Given the description of an element on the screen output the (x, y) to click on. 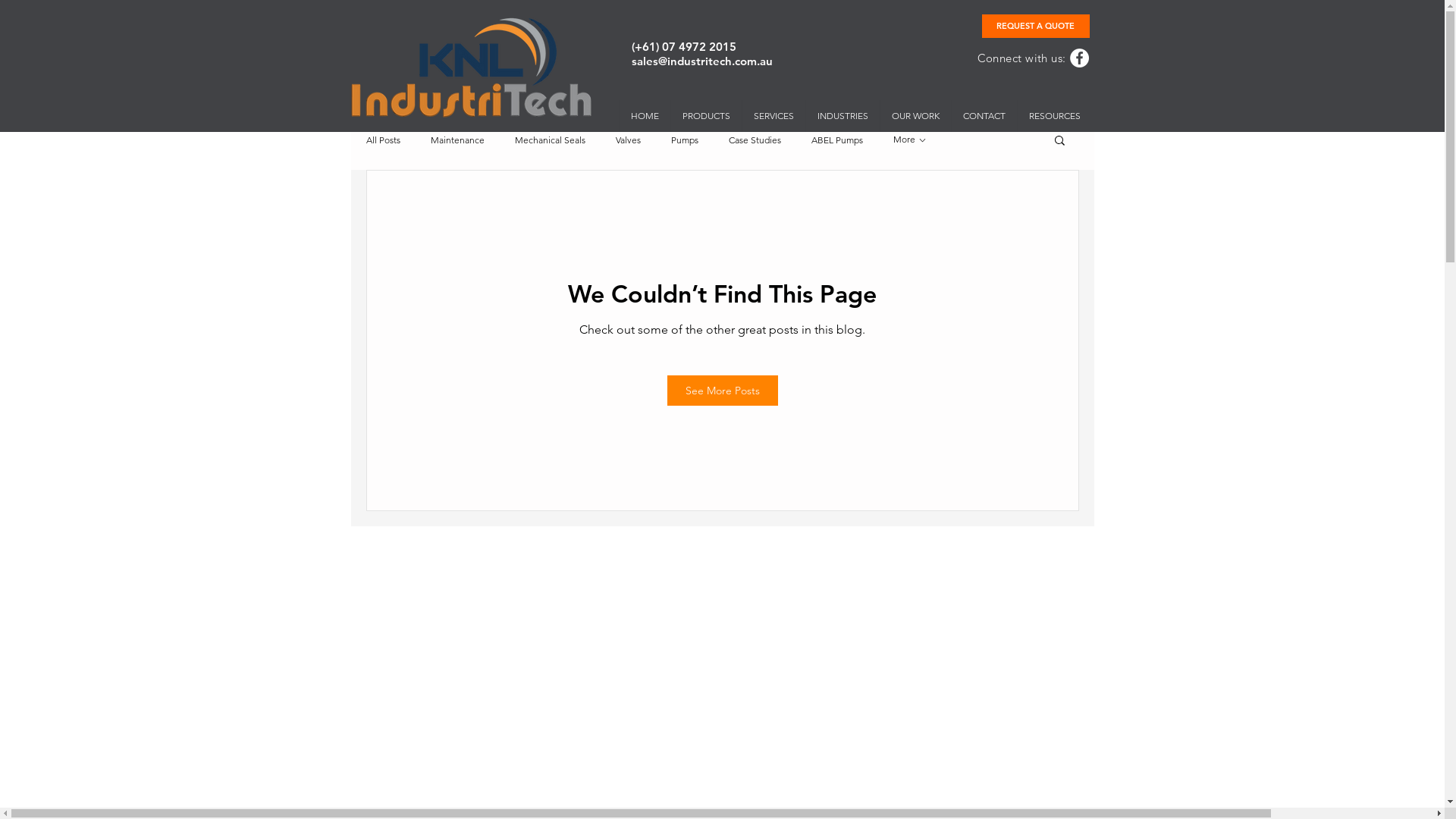
Valves Element type: text (627, 138)
IndustriTech | Industrial Process Solutions Element type: hover (470, 67)
SERVICES Element type: text (773, 115)
INDUSTRIES Element type: text (842, 115)
See More Posts Element type: text (722, 390)
REQUEST A QUOTE Element type: text (1034, 25)
HOME Element type: text (644, 115)
RESOURCES Element type: text (1053, 115)
Maintenance Element type: text (457, 138)
Case Studies Element type: text (754, 138)
Pumps Element type: text (683, 138)
OUR WORK Element type: text (914, 115)
All Posts Element type: text (382, 138)
CONTACT Element type: text (983, 115)
sales@industritech.com.au Element type: text (700, 60)
PRODUCTS Element type: text (705, 115)
ABEL Pumps Element type: text (836, 138)
Mechanical Seals Element type: text (549, 138)
